Given the description of an element on the screen output the (x, y) to click on. 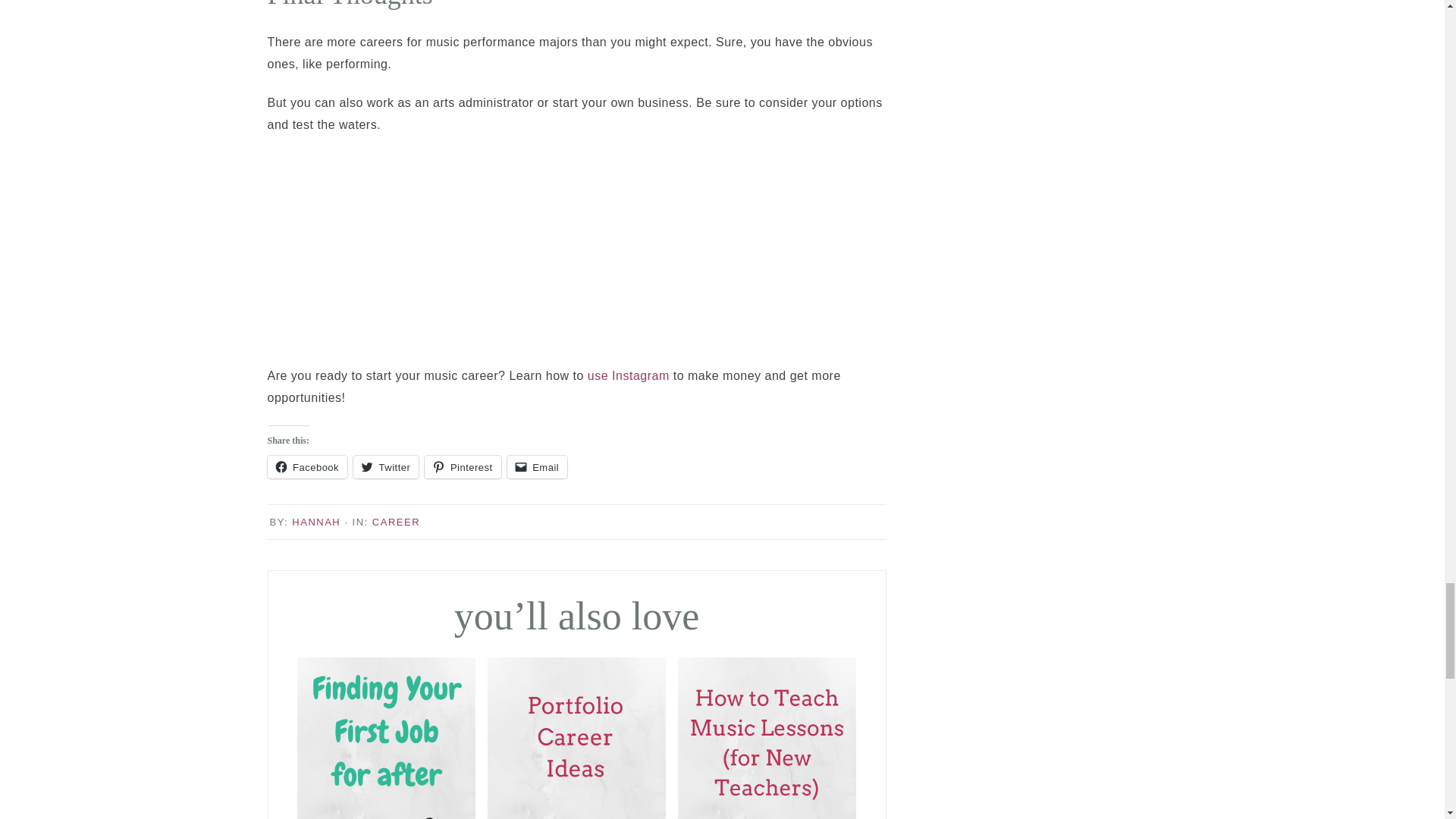
Click to email a link to a friend (536, 466)
Click to share on Twitter (386, 466)
Pinterest (462, 466)
Click to share on Pinterest (462, 466)
Facebook (306, 466)
HANNAH (316, 521)
Email (536, 466)
CAREER (396, 521)
Click to share on Facebook (306, 466)
Twitter (386, 466)
use Instagram (628, 375)
